Given the description of an element on the screen output the (x, y) to click on. 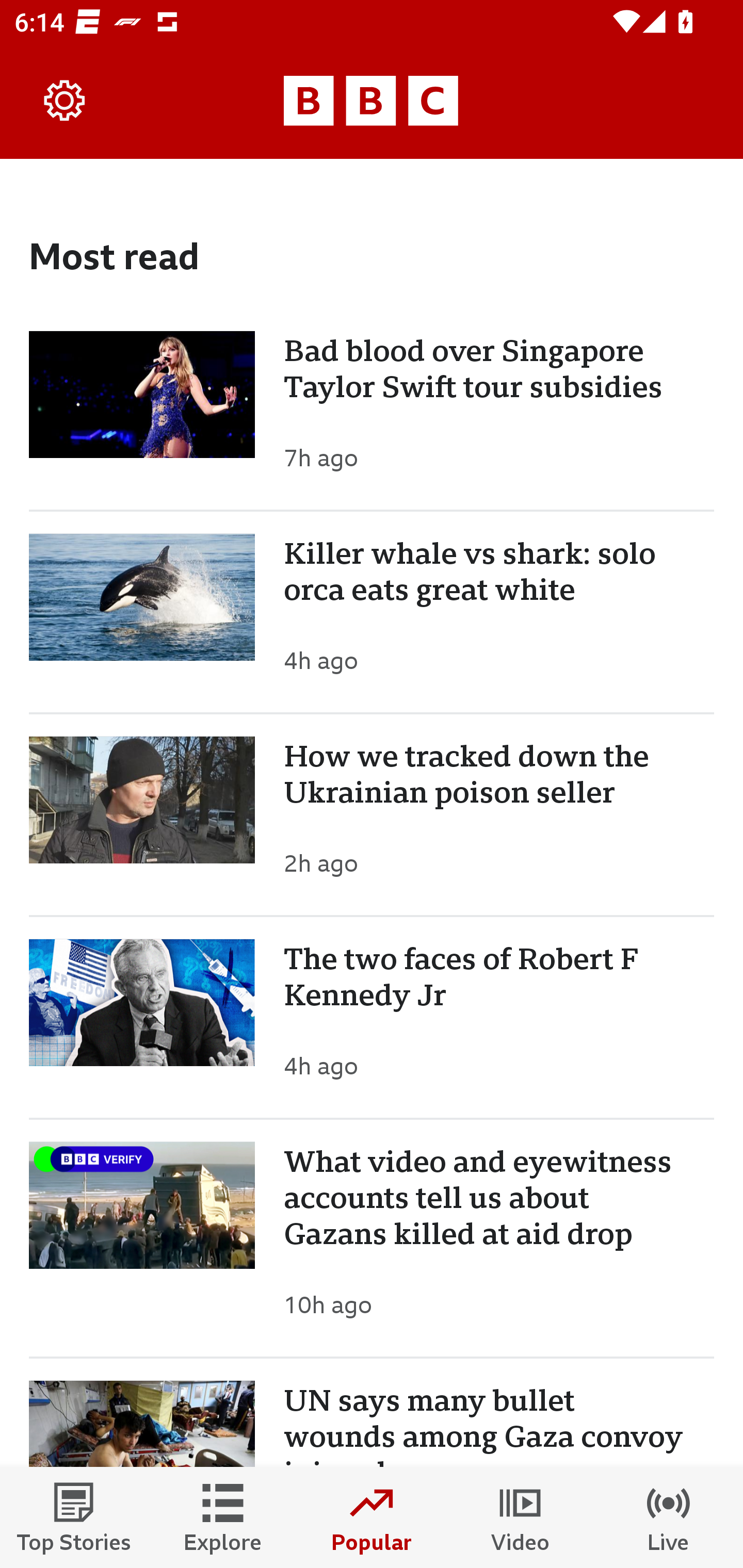
Settings (64, 100)
Top Stories (74, 1517)
Explore (222, 1517)
Video (519, 1517)
Live (668, 1517)
